Given the description of an element on the screen output the (x, y) to click on. 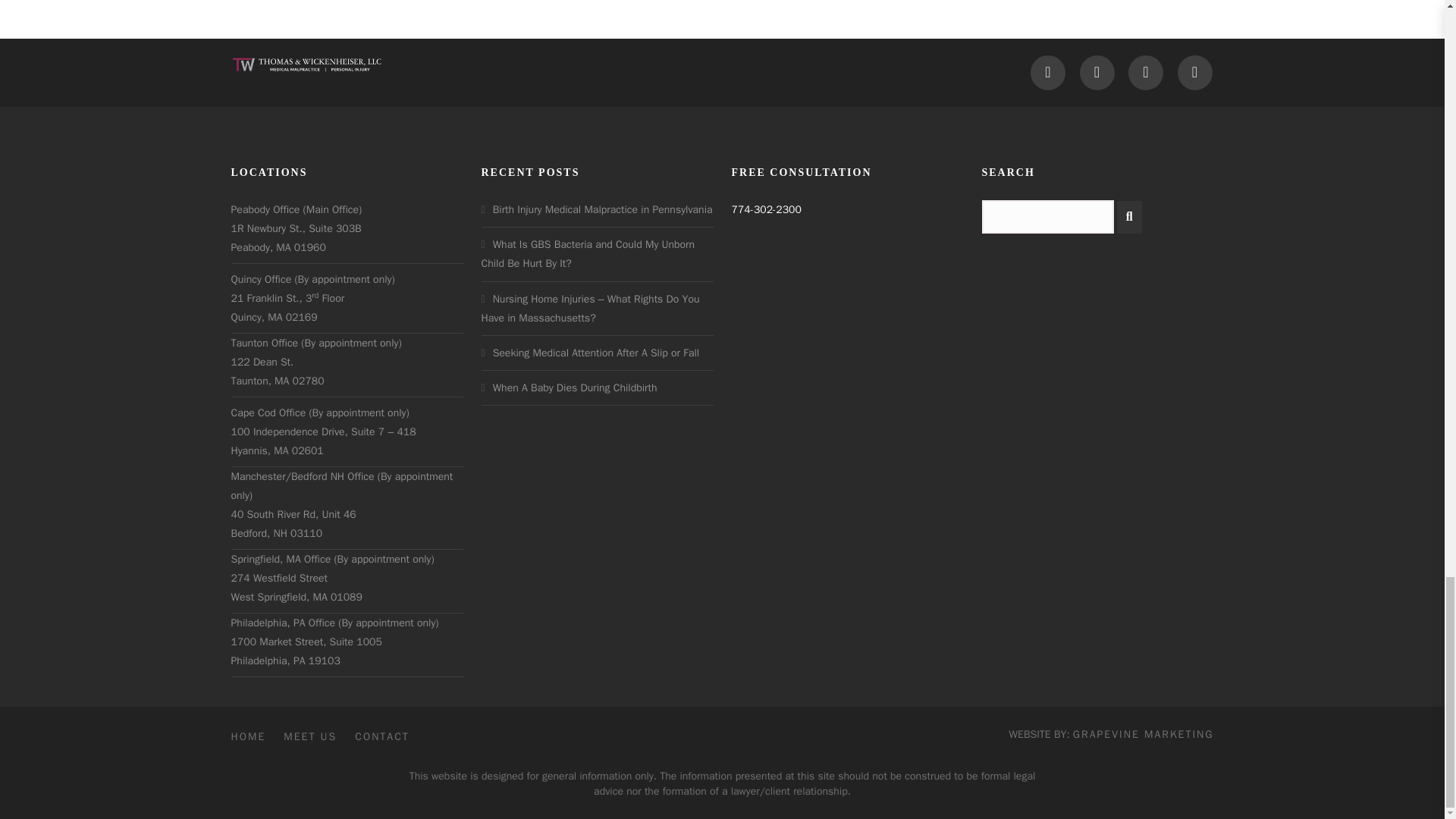
Search for: (1047, 216)
